Given the description of an element on the screen output the (x, y) to click on. 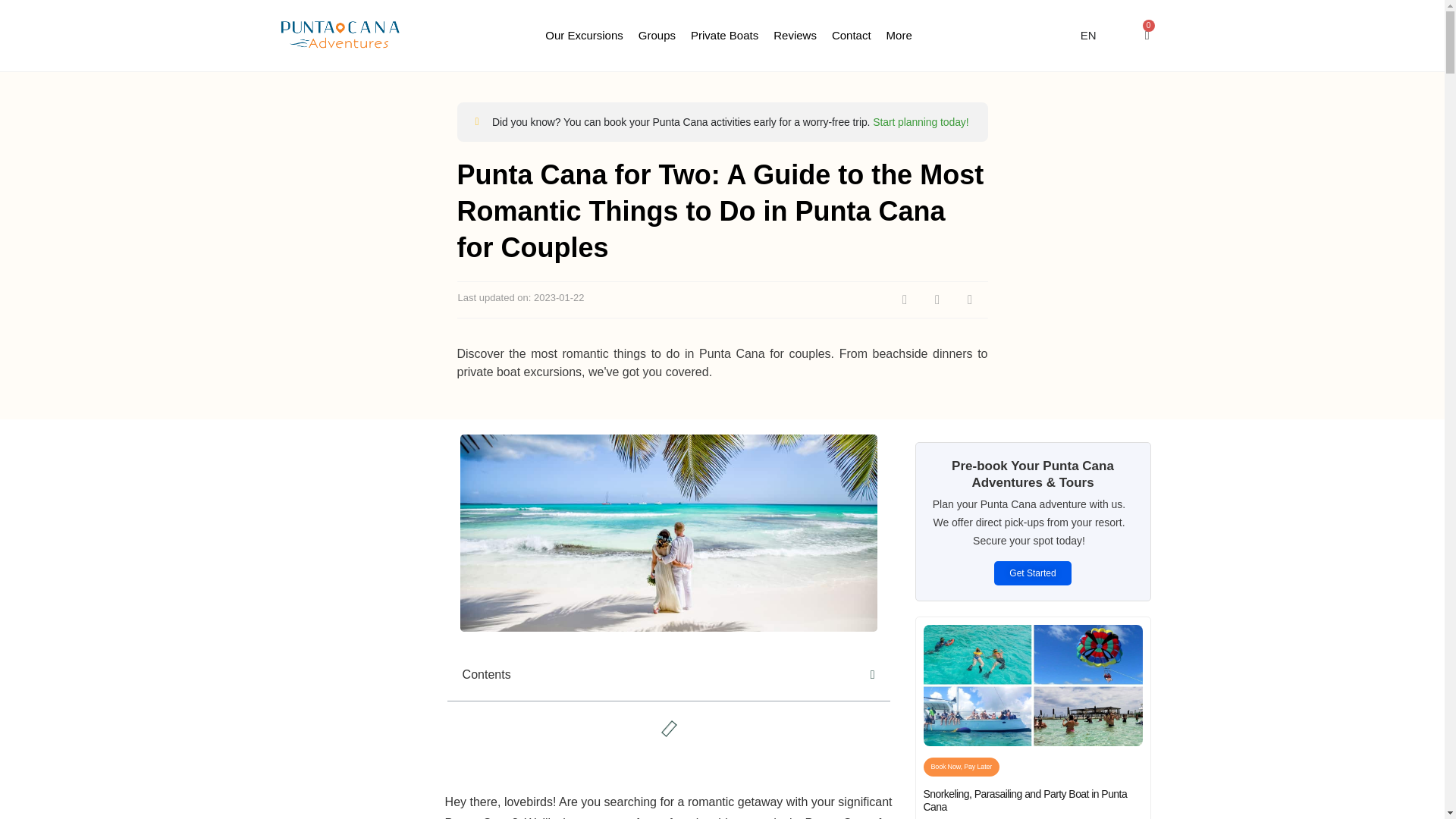
Private Boats (724, 35)
EN (1088, 35)
Reviews (794, 35)
Our Excursions (583, 35)
More (899, 35)
English (1088, 35)
Contact (851, 35)
Groups (656, 35)
